Given the description of an element on the screen output the (x, y) to click on. 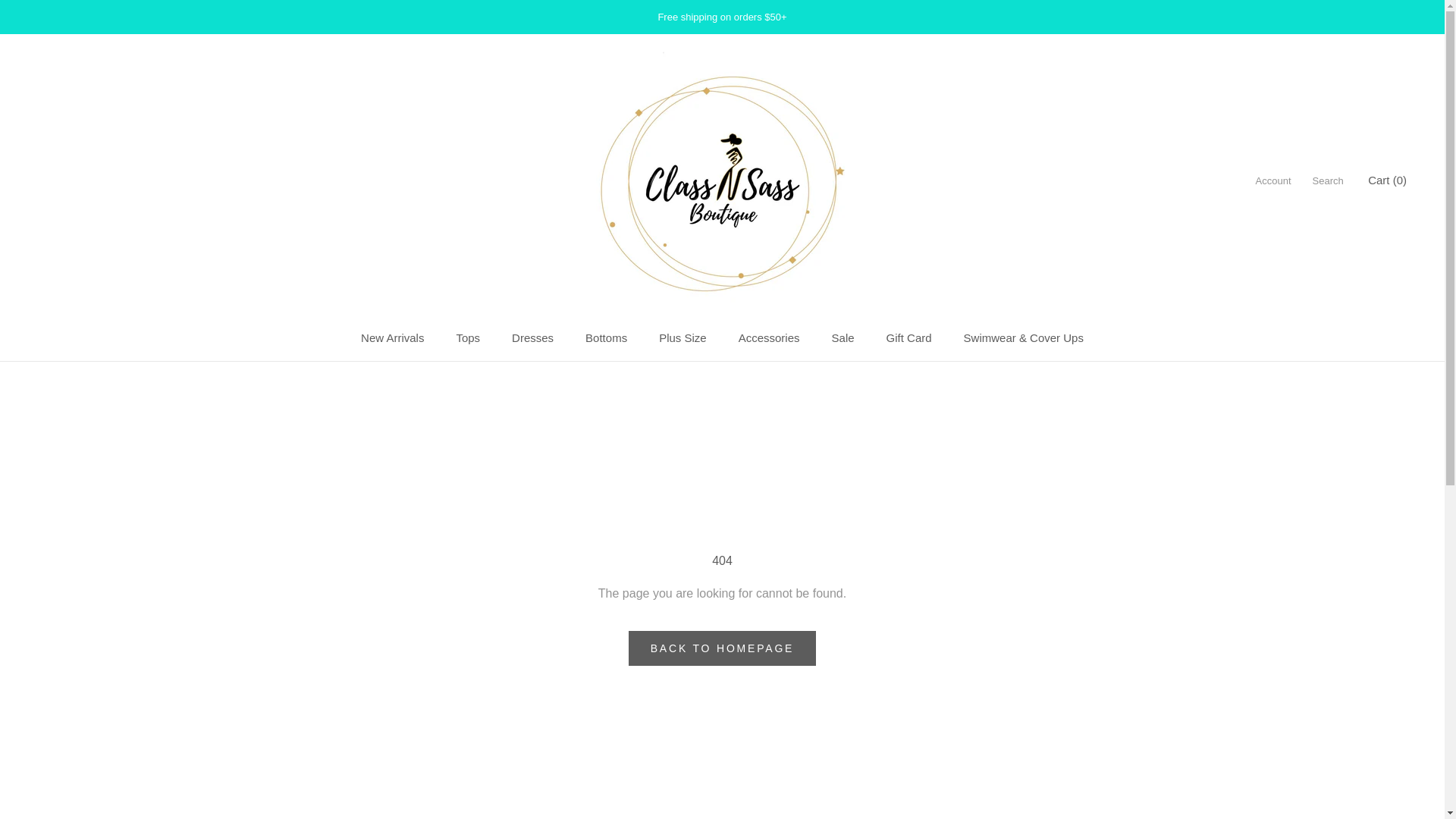
Account (392, 337)
Search (682, 337)
BACK TO HOMEPAGE (842, 337)
